Given the description of an element on the screen output the (x, y) to click on. 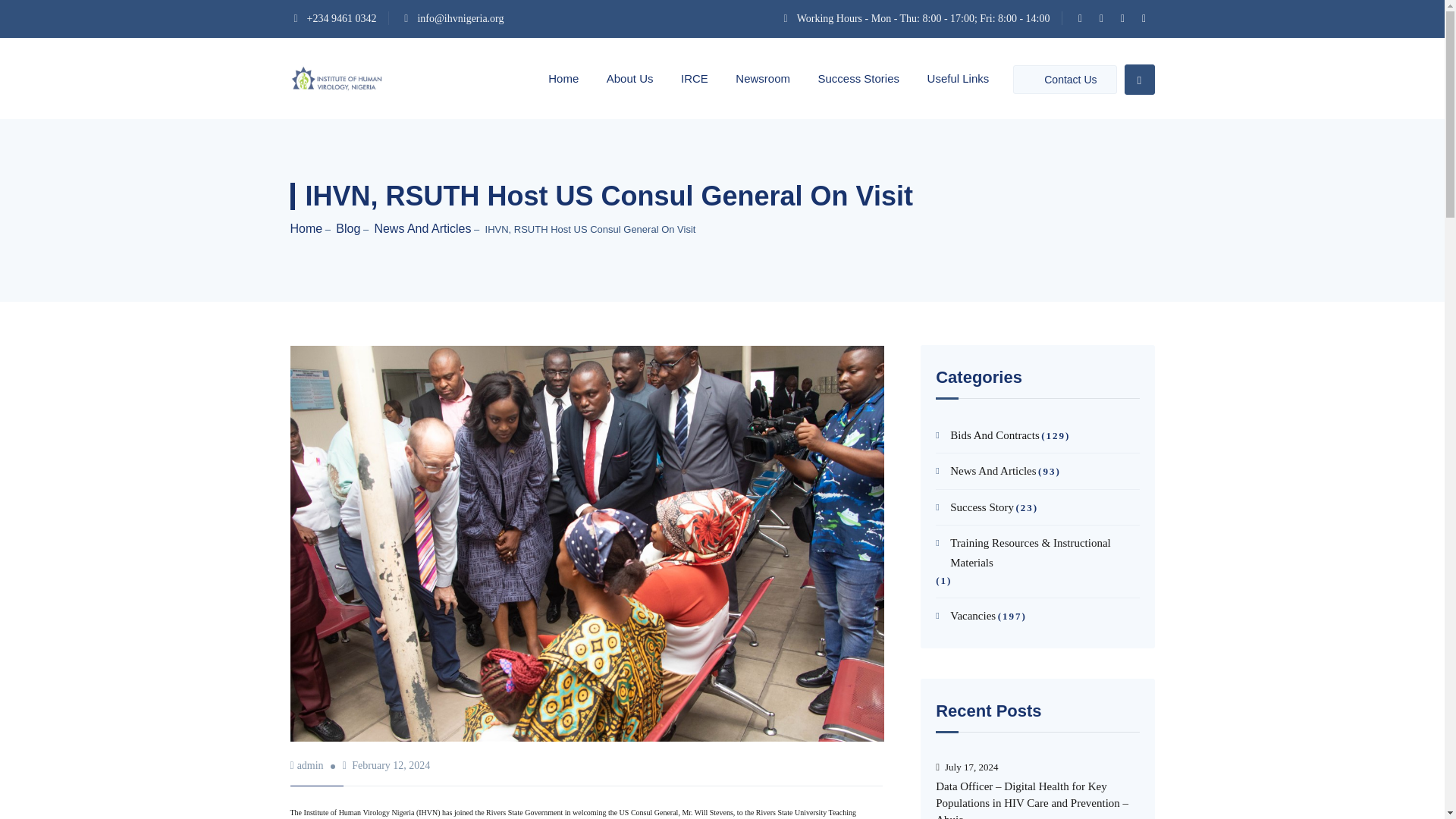
Contact Us (1064, 79)
About Us (630, 77)
Go to Blog. (347, 227)
Go to IHV NIGERIA.org. (305, 227)
IHV NIGERIA.org (335, 77)
Go to the News And Articles Category archives. (422, 227)
